Given the description of an element on the screen output the (x, y) to click on. 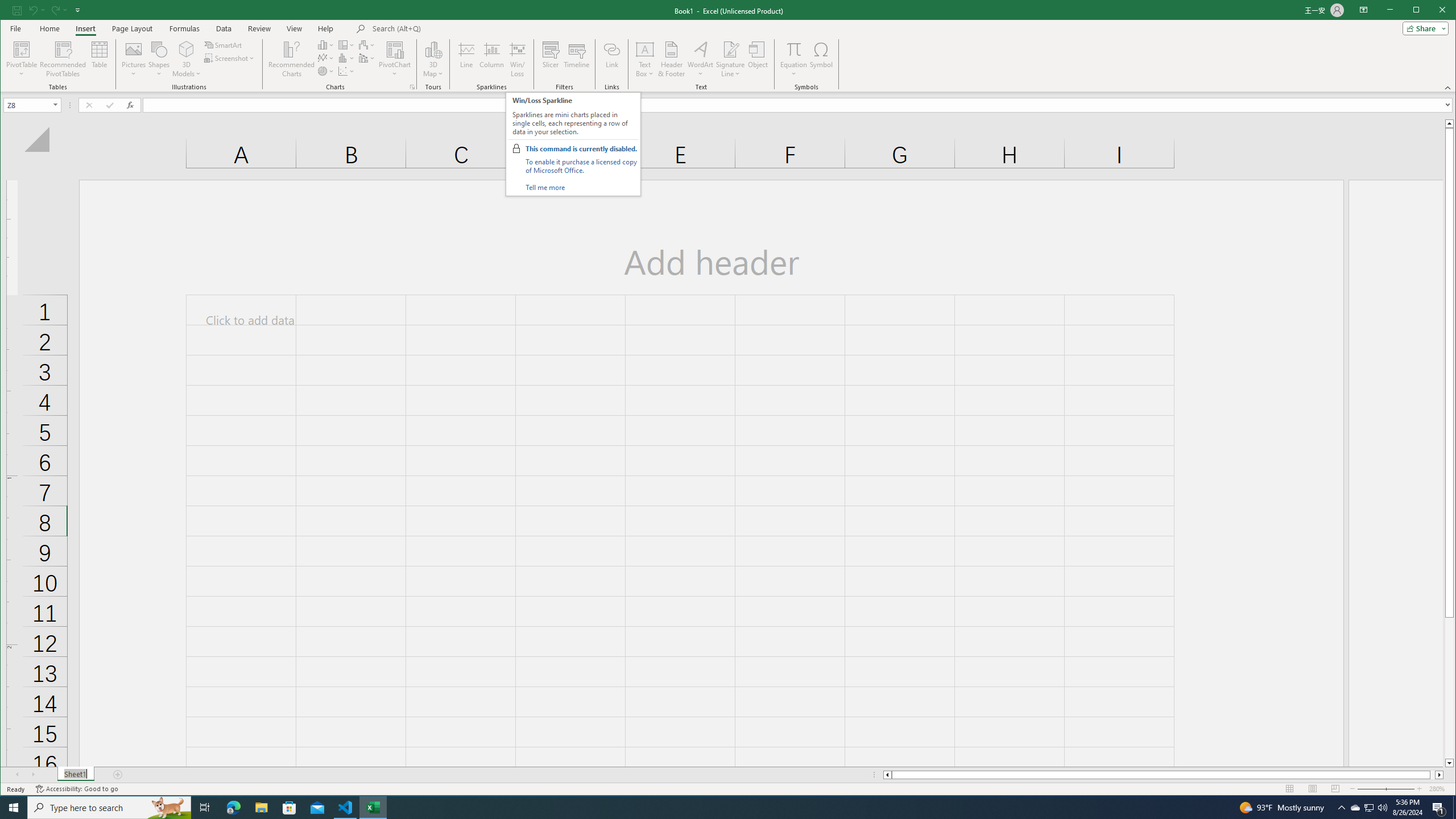
Insert Hierarchy Chart (346, 44)
Symbol... (821, 59)
Insert Statistic Chart (346, 57)
3D Map (432, 48)
Screenshot (229, 57)
